Given the description of an element on the screen output the (x, y) to click on. 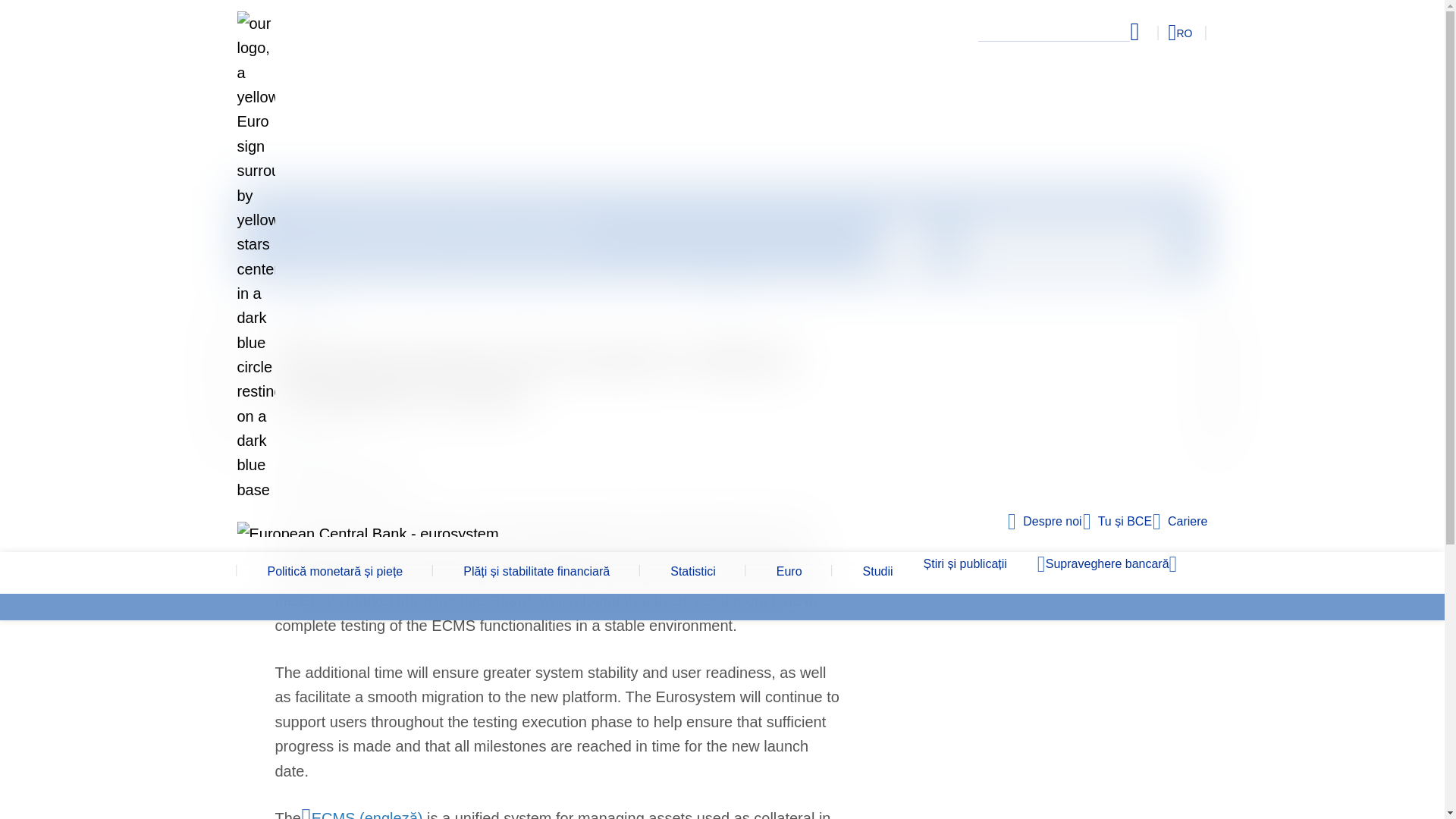
Select language (1153, 32)
